Given the description of an element on the screen output the (x, y) to click on. 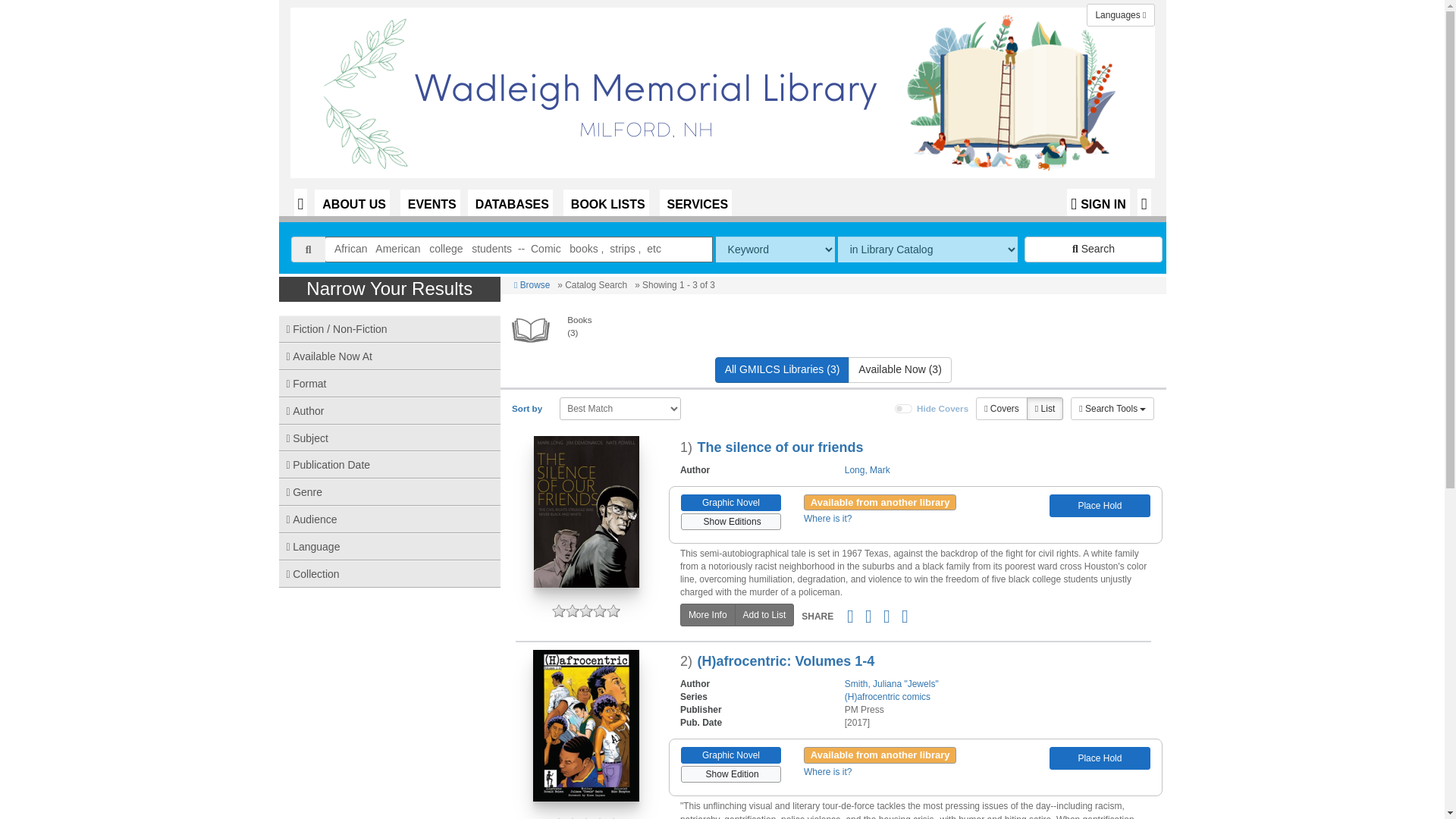
on (903, 408)
EVENTS (430, 202)
BOOK LISTS (606, 202)
DATABASES (510, 202)
Browse the Catalog (300, 202)
ABOUT US (352, 202)
Languages  (1120, 15)
